Given the description of an element on the screen output the (x, y) to click on. 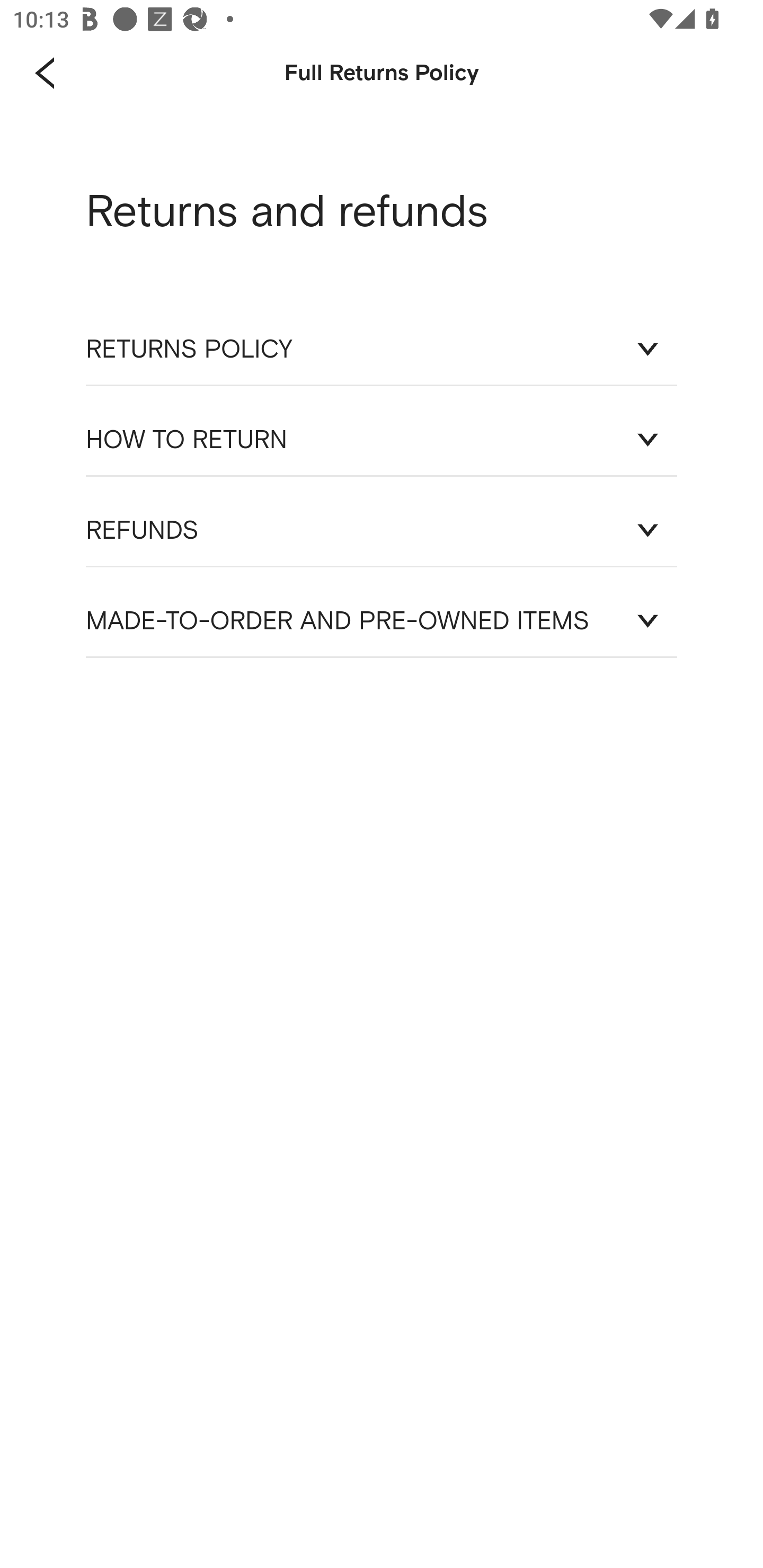
RETURNS POLICY (381, 348)
HOW TO RETURN (381, 438)
REFUNDS (381, 529)
MADE-TO-ORDER AND PRE-OWNED ITEMS (381, 620)
